Given the description of an element on the screen output the (x, y) to click on. 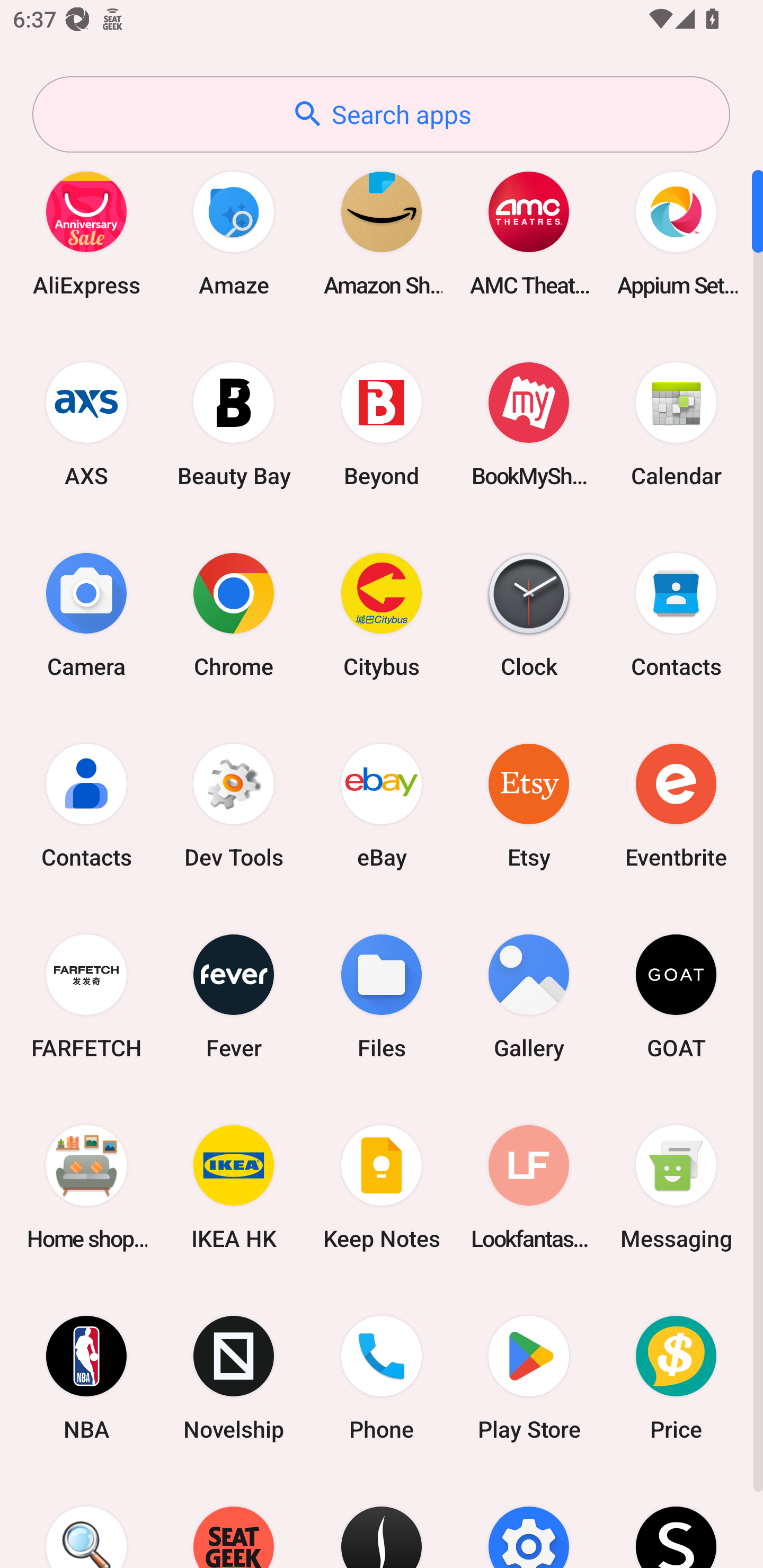
  Search apps (381, 114)
AliExpress (86, 233)
Amaze (233, 233)
Amazon Shopping (381, 233)
AMC Theatres (528, 233)
Appium Settings (676, 233)
AXS (86, 424)
Beauty Bay (233, 424)
Beyond (381, 424)
BookMyShow (528, 424)
Calendar (676, 424)
Camera (86, 614)
Chrome (233, 614)
Citybus (381, 614)
Clock (528, 614)
Contacts (676, 614)
Contacts (86, 805)
Dev Tools (233, 805)
eBay (381, 805)
Etsy (528, 805)
Eventbrite (676, 805)
FARFETCH (86, 996)
Fever (233, 996)
Files (381, 996)
Gallery (528, 996)
GOAT (676, 996)
Home shopping (86, 1186)
IKEA HK (233, 1186)
Keep Notes (381, 1186)
Lookfantastic (528, 1186)
Messaging (676, 1186)
NBA (86, 1377)
Novelship (233, 1377)
Phone (381, 1377)
Play Store (528, 1377)
Price (676, 1377)
